Given the description of an element on the screen output the (x, y) to click on. 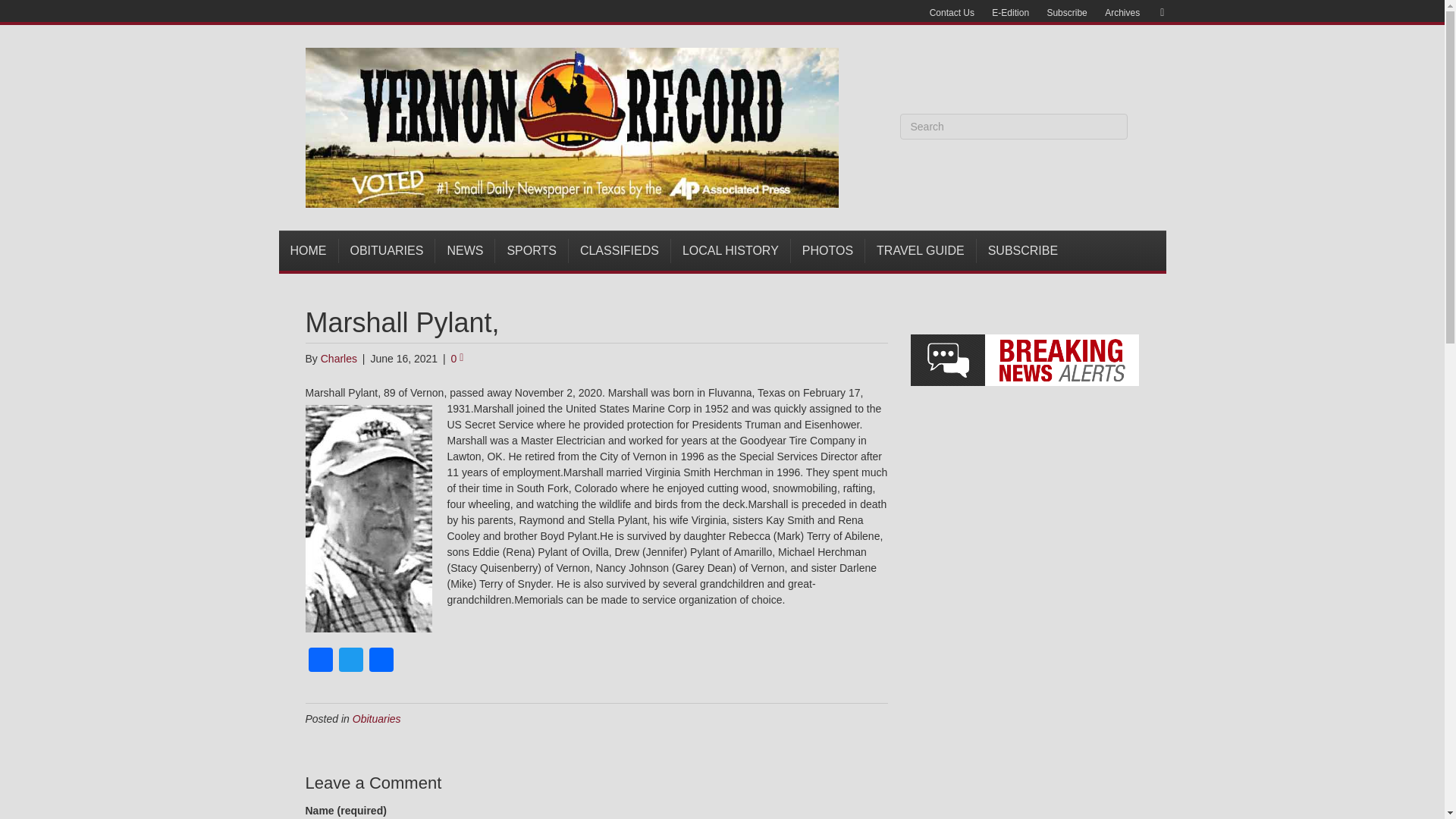
Facebook (319, 661)
OBITUARIES (386, 250)
TRAVEL GUIDE (920, 250)
PHOTOS (827, 250)
Share (380, 661)
SUBSCRIBE (1022, 250)
Type and press Enter to search. (1012, 126)
Email (1154, 11)
0 (457, 358)
Charles (338, 358)
Twitter (349, 661)
Twitter (349, 661)
SPORTS (532, 250)
Facebook (319, 661)
Subscribe (1066, 13)
